Given the description of an element on the screen output the (x, y) to click on. 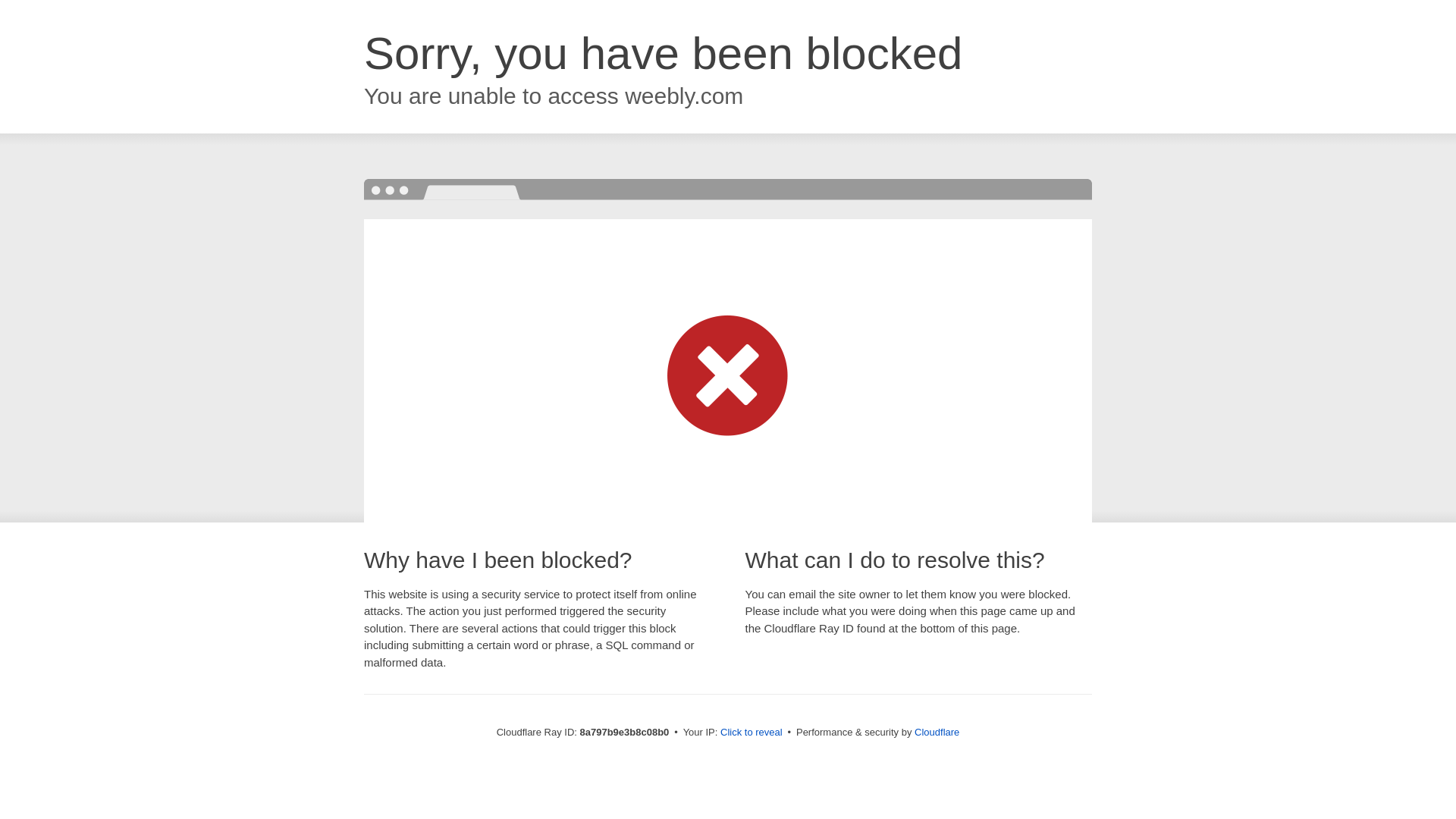
Cloudflare (936, 731)
Click to reveal (751, 732)
